Given the description of an element on the screen output the (x, y) to click on. 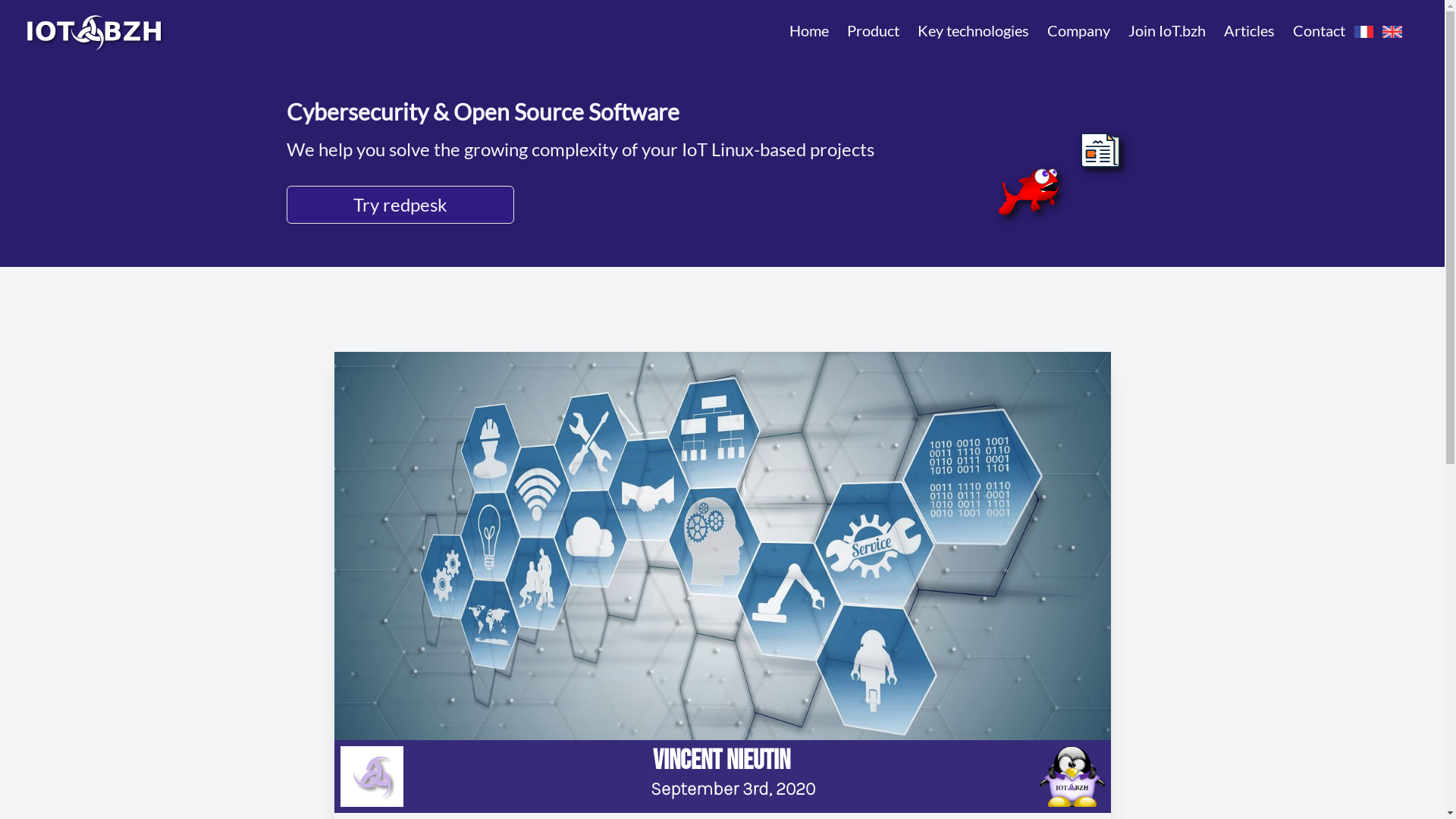
here Element type: text (1194, 802)
Key technologies Element type: text (973, 30)
Contact Element type: text (1318, 30)
Close Element type: text (1391, 770)
Try redpesk Element type: text (580, 204)
Company Element type: text (1078, 30)
Home Element type: text (808, 30)
Product Element type: text (872, 30)
Articles Element type: text (1248, 30)
Join IoT.bzh Element type: text (1166, 30)
